Given the description of an element on the screen output the (x, y) to click on. 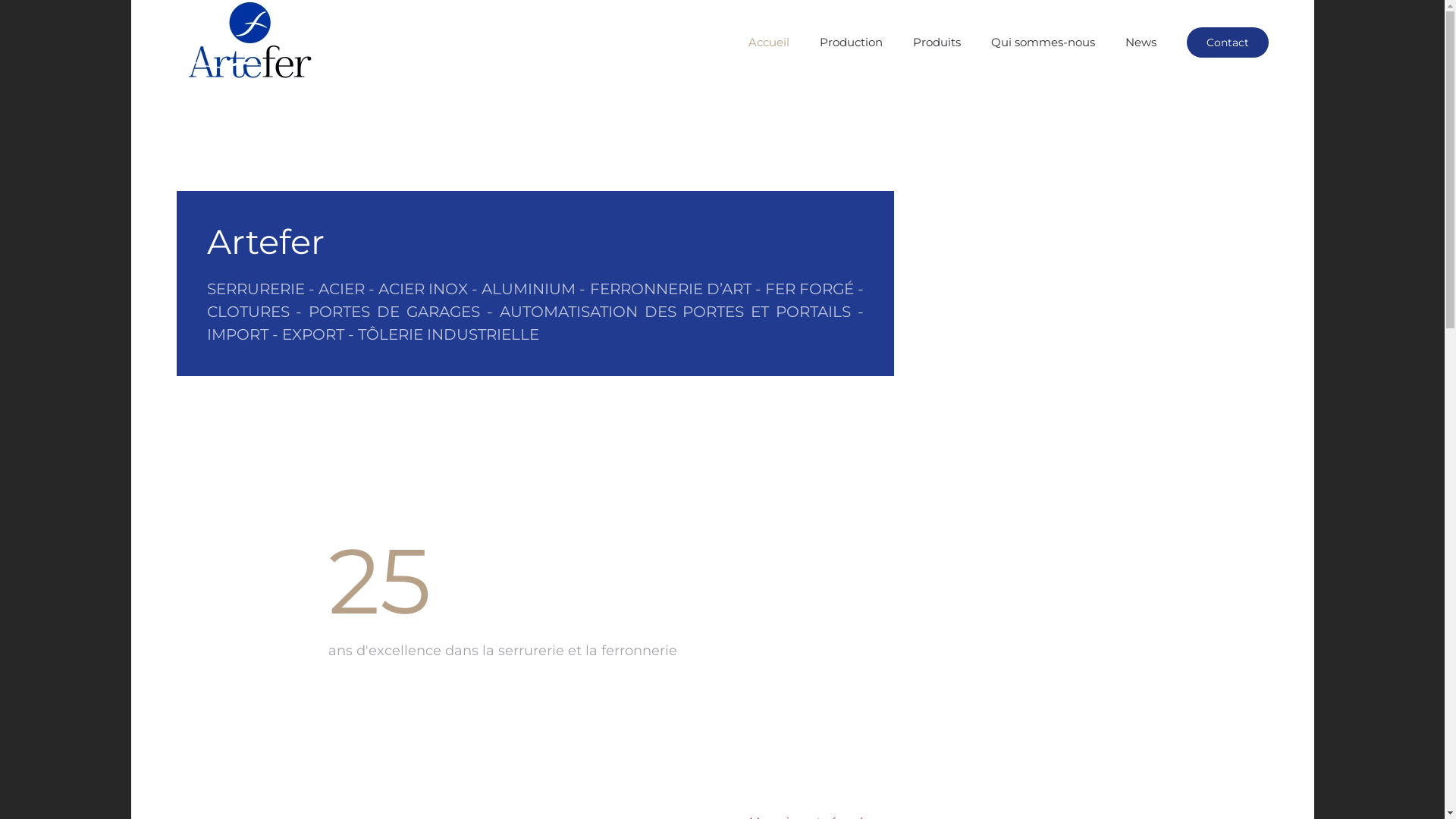
Accueil Element type: text (767, 42)
Production Element type: text (850, 42)
Contact Element type: text (1226, 42)
Produits Element type: text (936, 42)
Qui sommes-nous Element type: text (1042, 42)
News Element type: text (1140, 42)
